Given the description of an element on the screen output the (x, y) to click on. 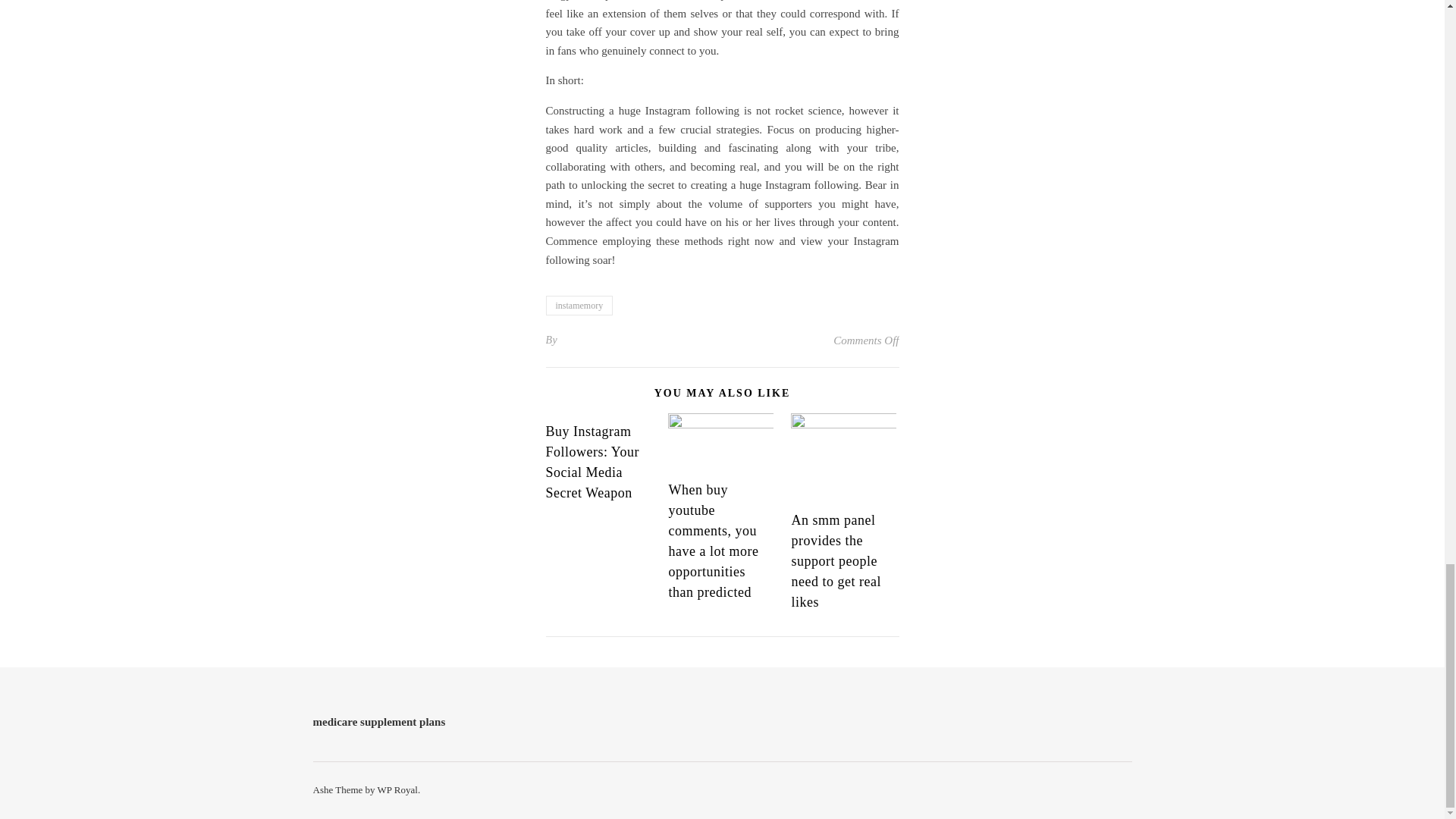
Buy Instagram Followers: Your Social Media Secret Weapon (593, 462)
instamemory (579, 305)
